Given the description of an element on the screen output the (x, y) to click on. 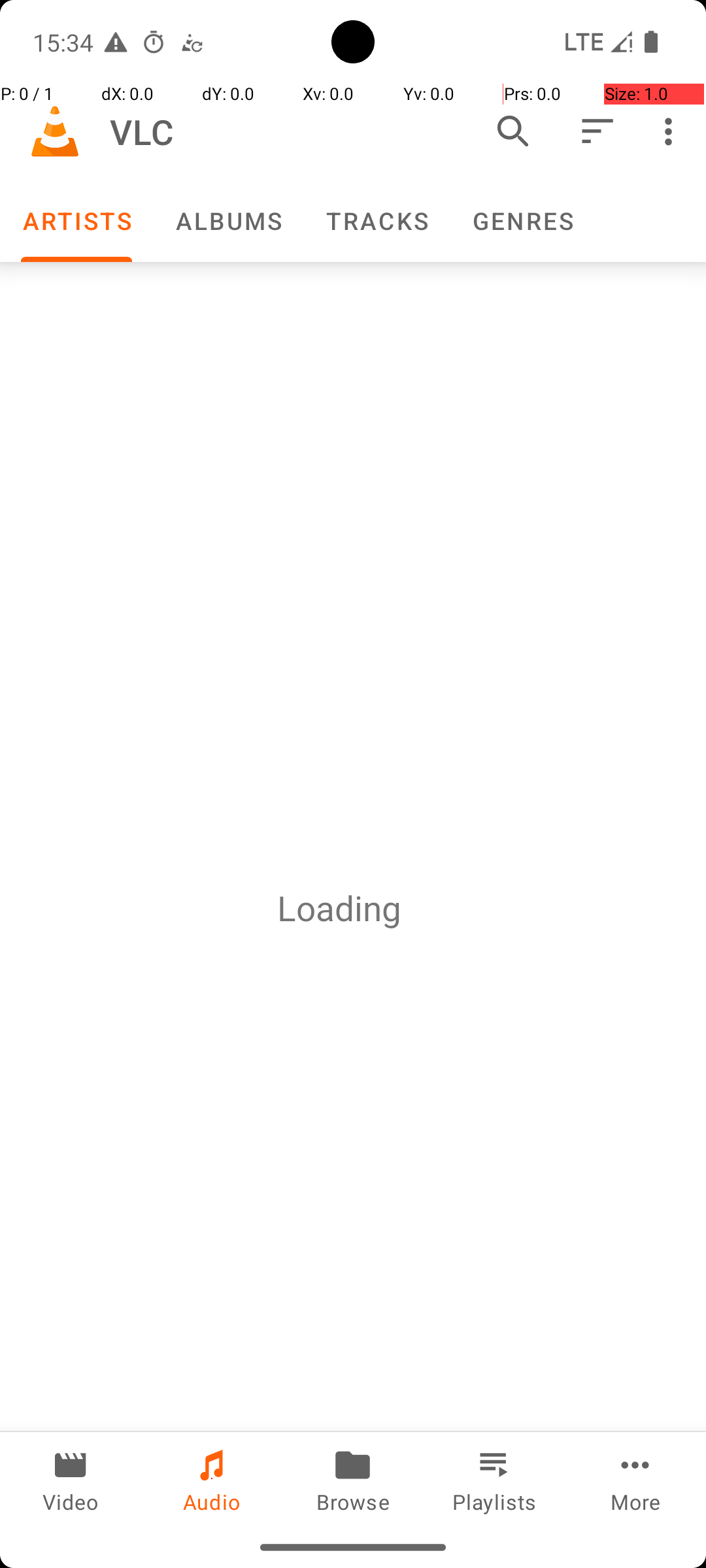
VLC notification: Scanning for media files Element type: android.widget.ImageView (191, 41)
